Given the description of an element on the screen output the (x, y) to click on. 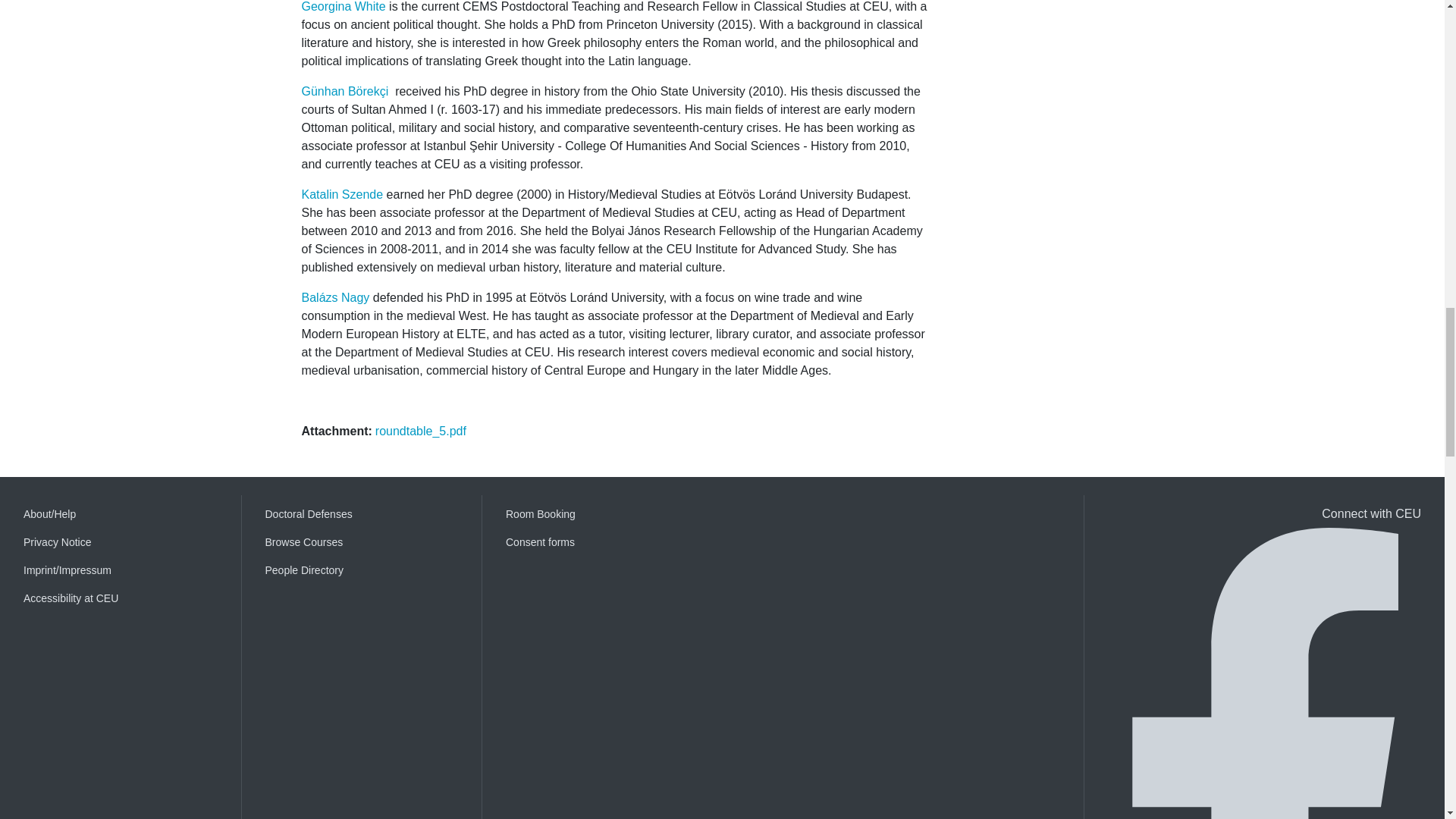
Room Booking (602, 514)
Katalin Szende (342, 194)
Privacy Notice (120, 542)
People Directory (361, 570)
Georgina White (343, 6)
Accessibility at CEU (120, 598)
Browse Courses (361, 542)
Doctoral Defenses (361, 514)
